Given the description of an element on the screen output the (x, y) to click on. 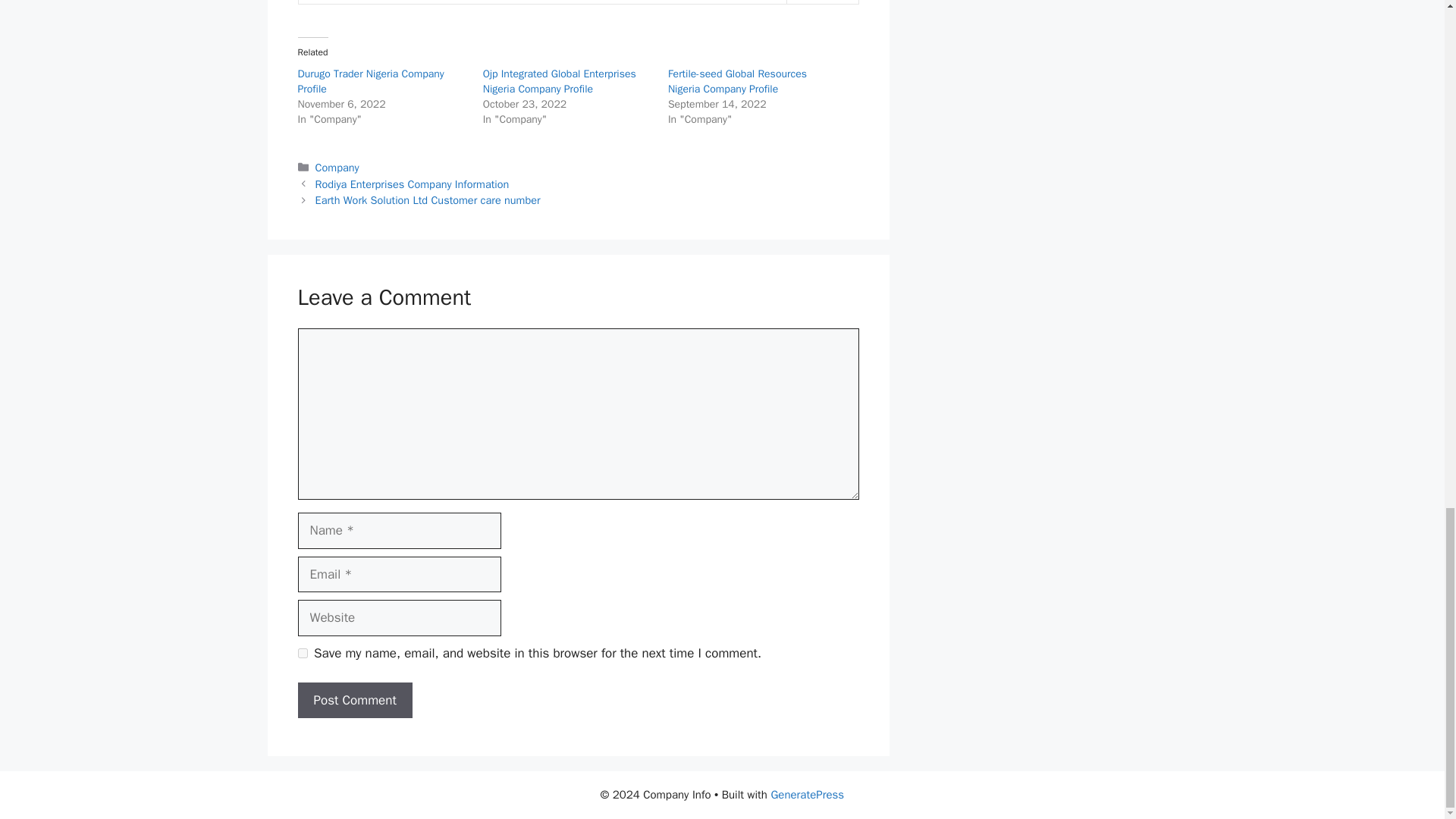
Ojp Integrated Global Enterprises Nigeria Company Profile (559, 81)
Post Comment (354, 700)
Fertile-seed Global Resources Nigeria Company Profile (737, 81)
Fertile-seed Global Resources Nigeria Company Profile (737, 81)
Durugo Trader Nigeria Company Profile (370, 81)
Ojp Integrated Global Enterprises Nigeria Company Profile (559, 81)
Earth Work Solution Ltd Customer care number (427, 200)
Post Comment (354, 700)
GeneratePress (807, 794)
yes (302, 653)
